Given the description of an element on the screen output the (x, y) to click on. 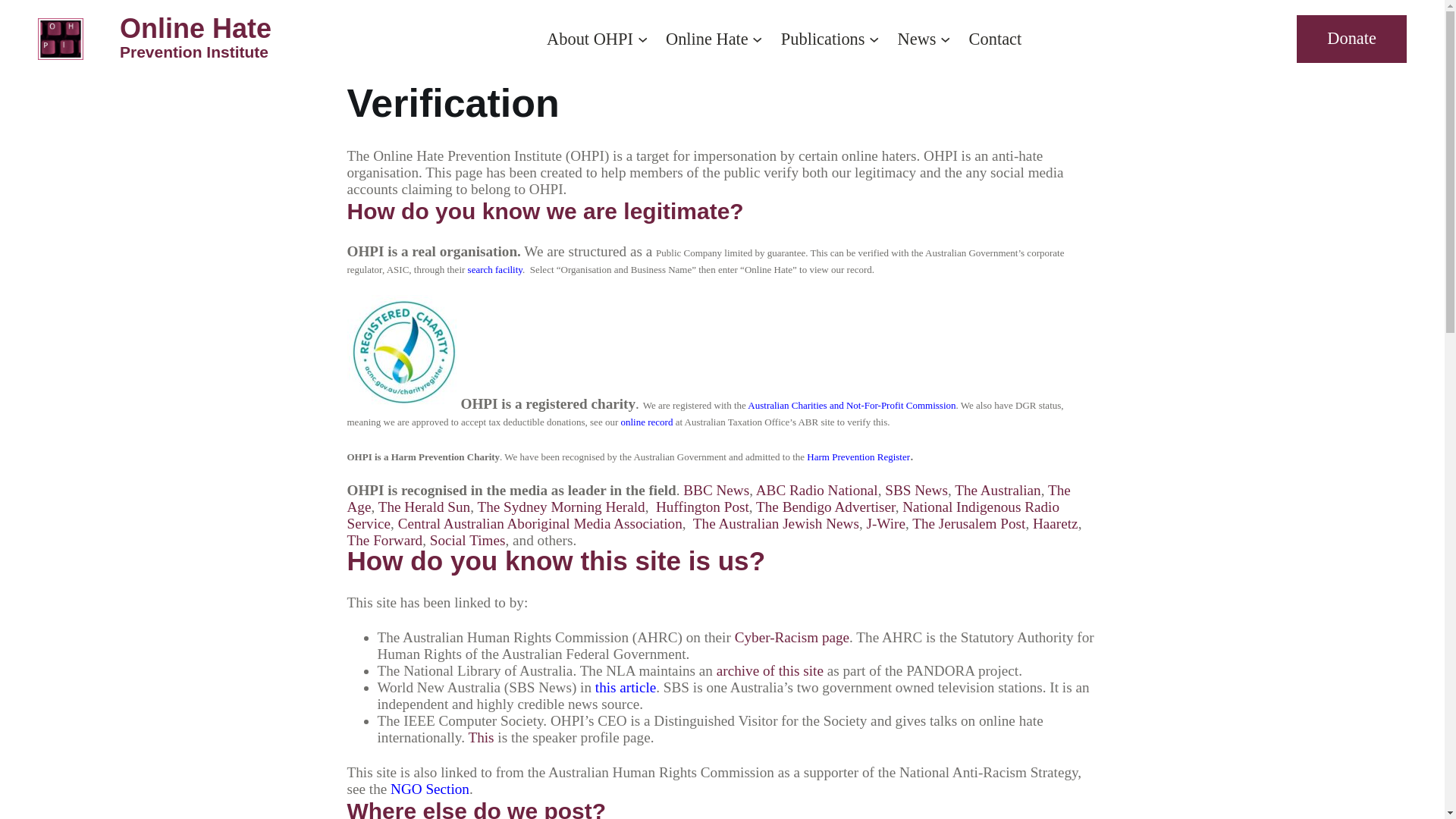
Social Times Element type: text (467, 540)
Online Hate
Prevention Institute Element type: text (195, 43)
ABC Radio National Element type: text (817, 490)
National Indigenous Radio Service Element type: text (703, 514)
News Element type: text (916, 38)
J-Wire Element type: text (885, 523)
The Sydney Morning Herald Element type: text (560, 506)
Cyber-Racism page Element type: text (791, 637)
Harm Prevention Register Element type: text (858, 456)
SBS News Element type: text (915, 490)
Online Hate Element type: text (706, 38)
The Jerusalem Post Element type: text (968, 523)
search facility Element type: text (494, 269)
Contact Element type: text (995, 38)
About OHPI Element type: text (589, 38)
Donate Element type: text (1351, 38)
Huffington Post Element type: text (702, 506)
The Australian Jewish News Element type: text (776, 523)
NGO Section Element type: text (429, 789)
Australian Charities and Not-For-Profit Commission Element type: text (851, 405)
online record Element type: text (646, 421)
Publications Element type: text (823, 38)
archive of this site Element type: text (769, 670)
The Australian Element type: text (997, 490)
this article Element type: text (625, 687)
BBC News Element type: text (716, 490)
The Age Element type: text (708, 498)
Central Australian Aboriginal Media Association Element type: text (540, 523)
Haaretz Element type: text (1055, 523)
The Herald Sun Element type: text (424, 506)
This Element type: text (480, 737)
The Forward Element type: text (385, 540)
The Bendigo Advertiser Element type: text (825, 506)
